Given the description of an element on the screen output the (x, y) to click on. 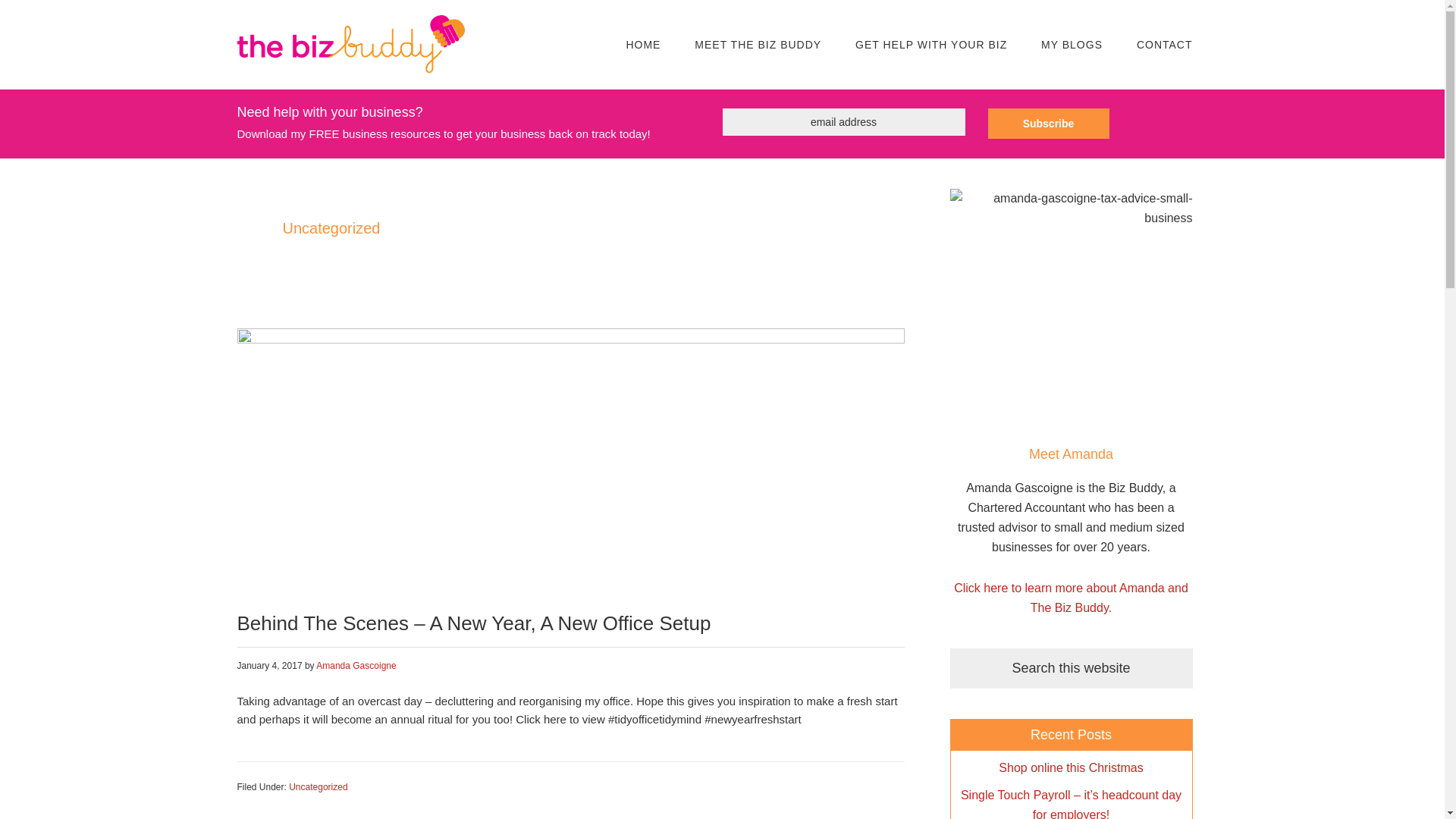
HOME (642, 44)
Subscribe (1047, 123)
Uncategorized (317, 787)
The Biz Buddy (349, 27)
Subscribe (1047, 123)
GET HELP WITH YOUR BIZ (931, 44)
MY BLOGS (1072, 44)
Amanda Gascoigne (355, 665)
MEET THE BIZ BUDDY (757, 44)
CONTACT (1164, 44)
